Given the description of an element on the screen output the (x, y) to click on. 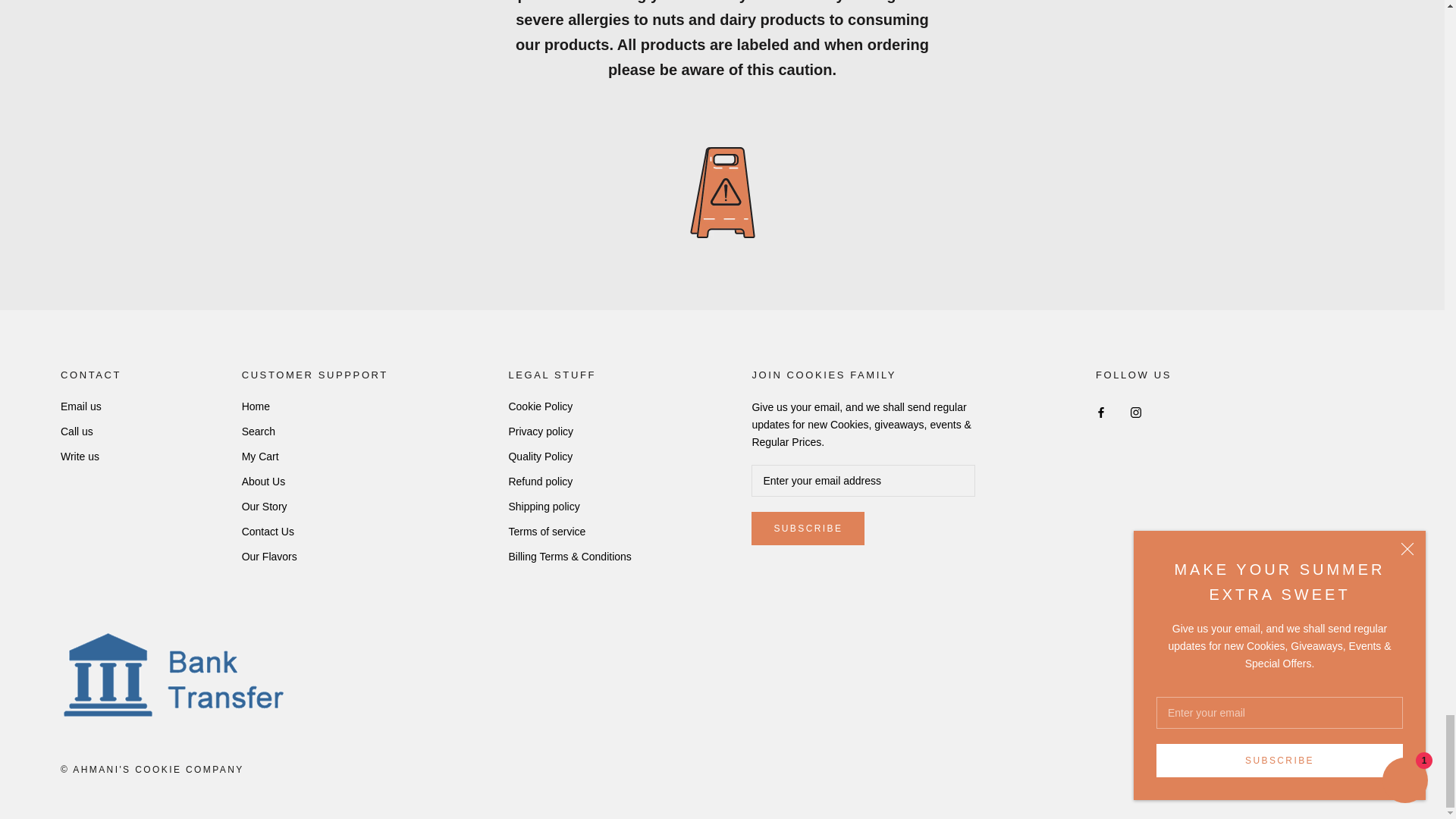
Visa (1369, 768)
Mastercard (1328, 768)
